Given the description of an element on the screen output the (x, y) to click on. 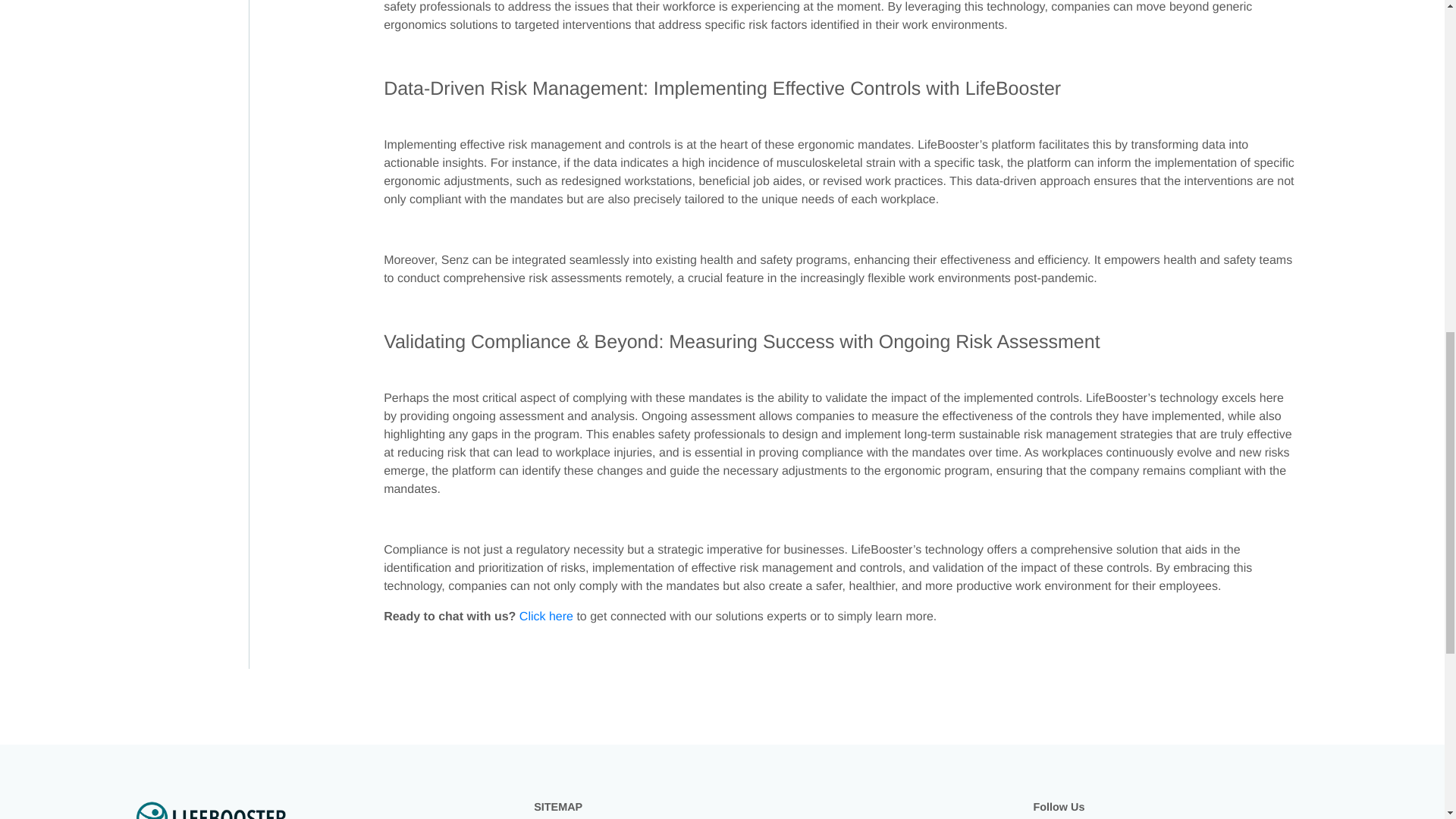
Click here (546, 616)
